Given the description of an element on the screen output the (x, y) to click on. 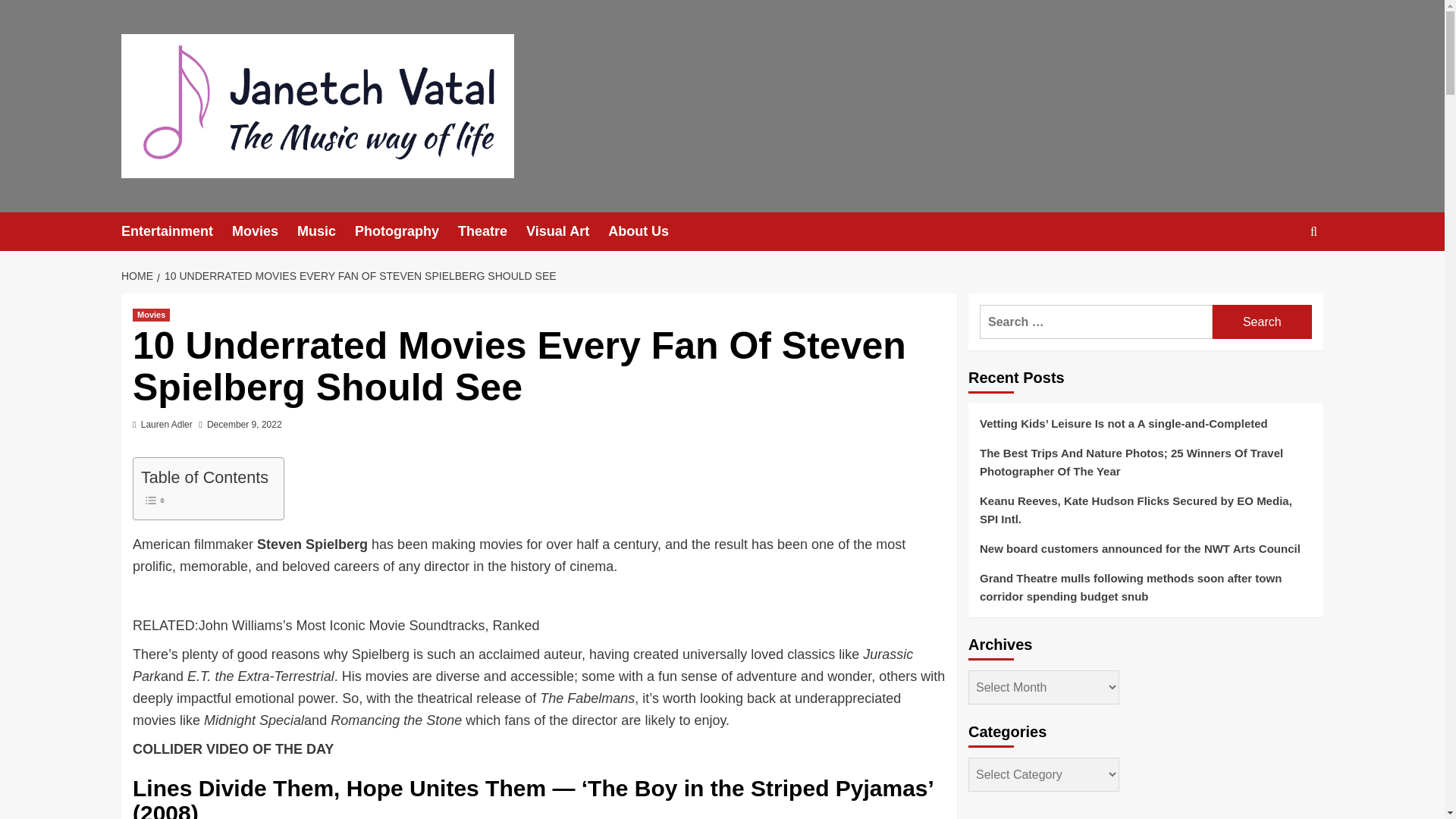
About Us (647, 231)
Visual Art (566, 231)
December 9, 2022 (244, 424)
Search (1261, 321)
Lauren Adler (166, 424)
Search (1278, 278)
Theatre (491, 231)
Movies (264, 231)
Photography (406, 231)
